Given the description of an element on the screen output the (x, y) to click on. 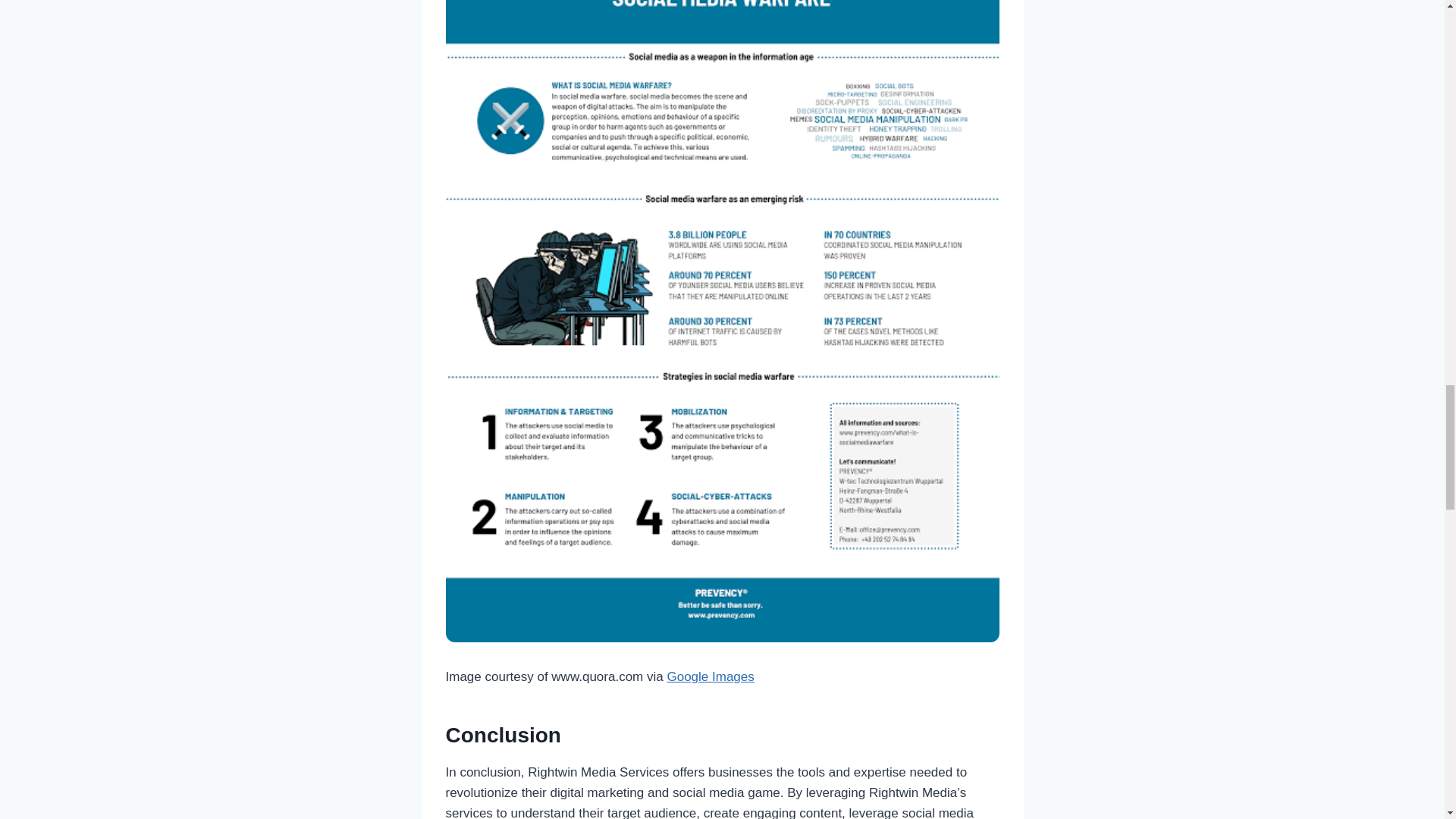
Google Images (710, 676)
